Given the description of an element on the screen output the (x, y) to click on. 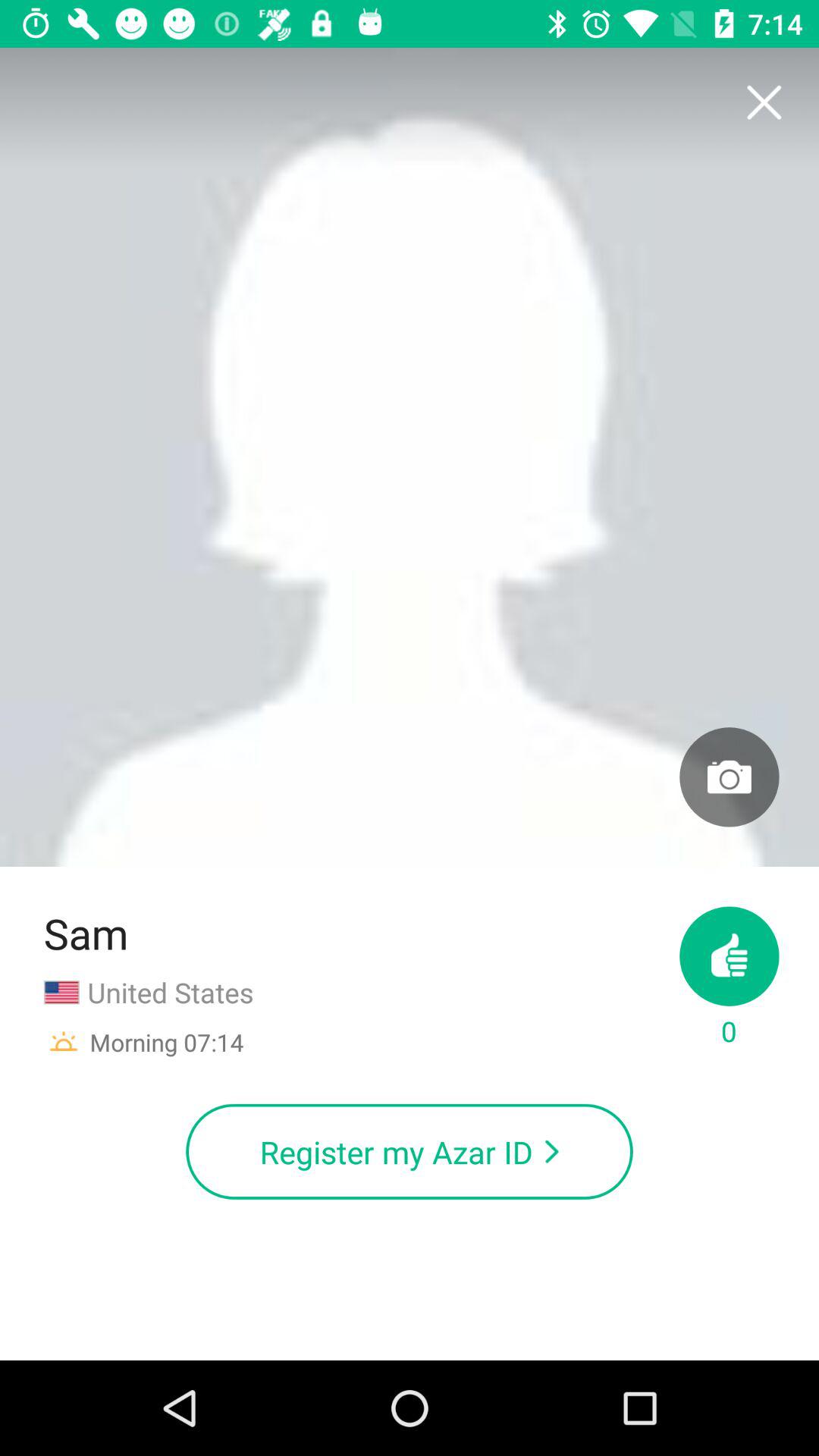
add picture (729, 776)
